Given the description of an element on the screen output the (x, y) to click on. 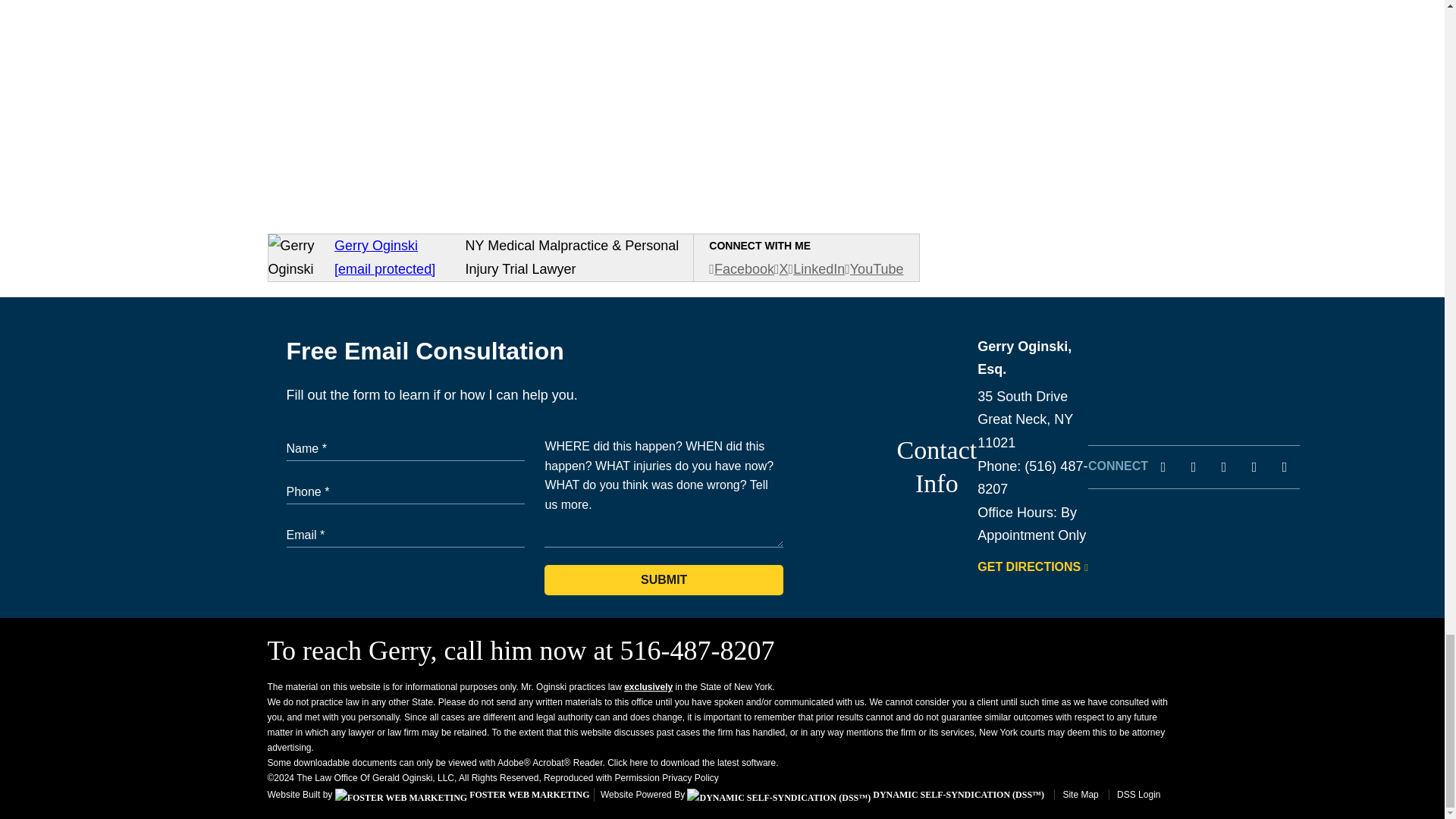
LinkedIn (817, 268)
Find me on Facebook (741, 268)
X (781, 268)
Follow me on X (781, 268)
Watch me on YouTube (873, 268)
YouTube (873, 268)
Gerry Oginski (375, 245)
Connect with me on LinkedIn (817, 268)
Facebook (741, 268)
